Given the description of an element on the screen output the (x, y) to click on. 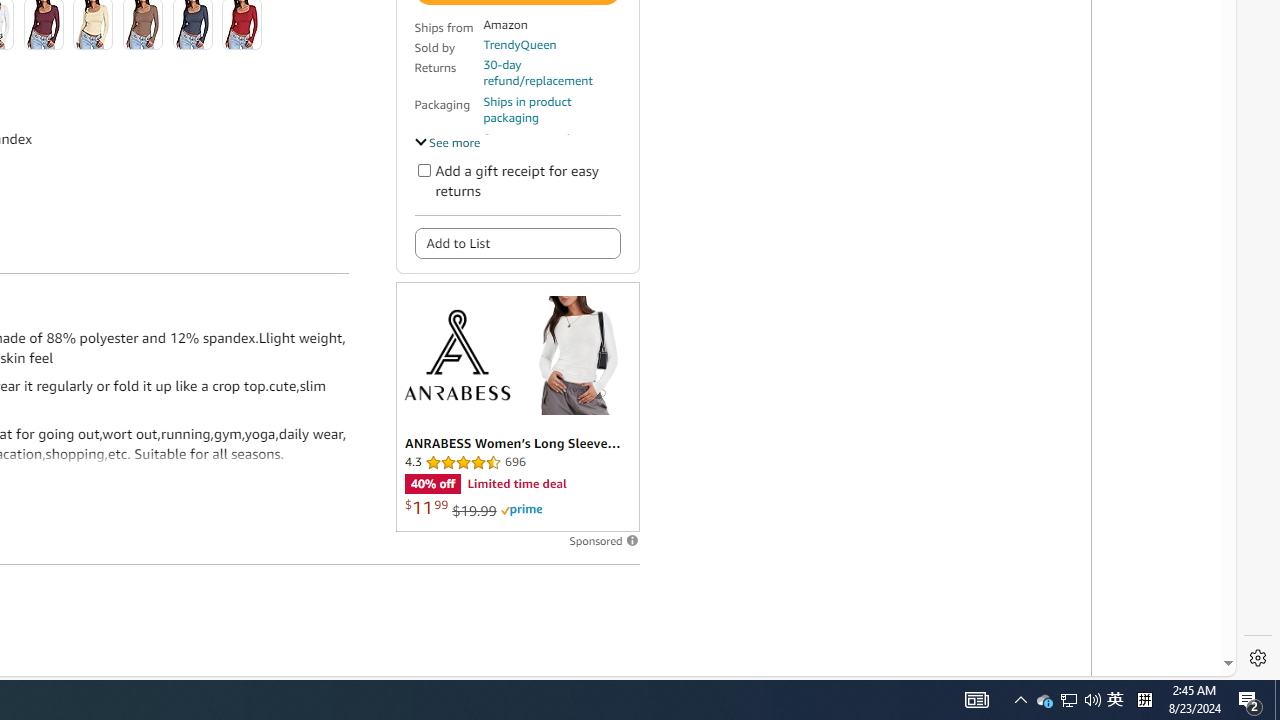
Ships in product packaging (551, 109)
TrendyQueen (519, 43)
Logo (456, 354)
Add to List (516, 242)
Prime (521, 509)
Add a gift receipt for easy returns (424, 170)
Sponsored ad (516, 406)
30-day refund/replacement (551, 72)
Secure transaction (533, 138)
